Given the description of an element on the screen output the (x, y) to click on. 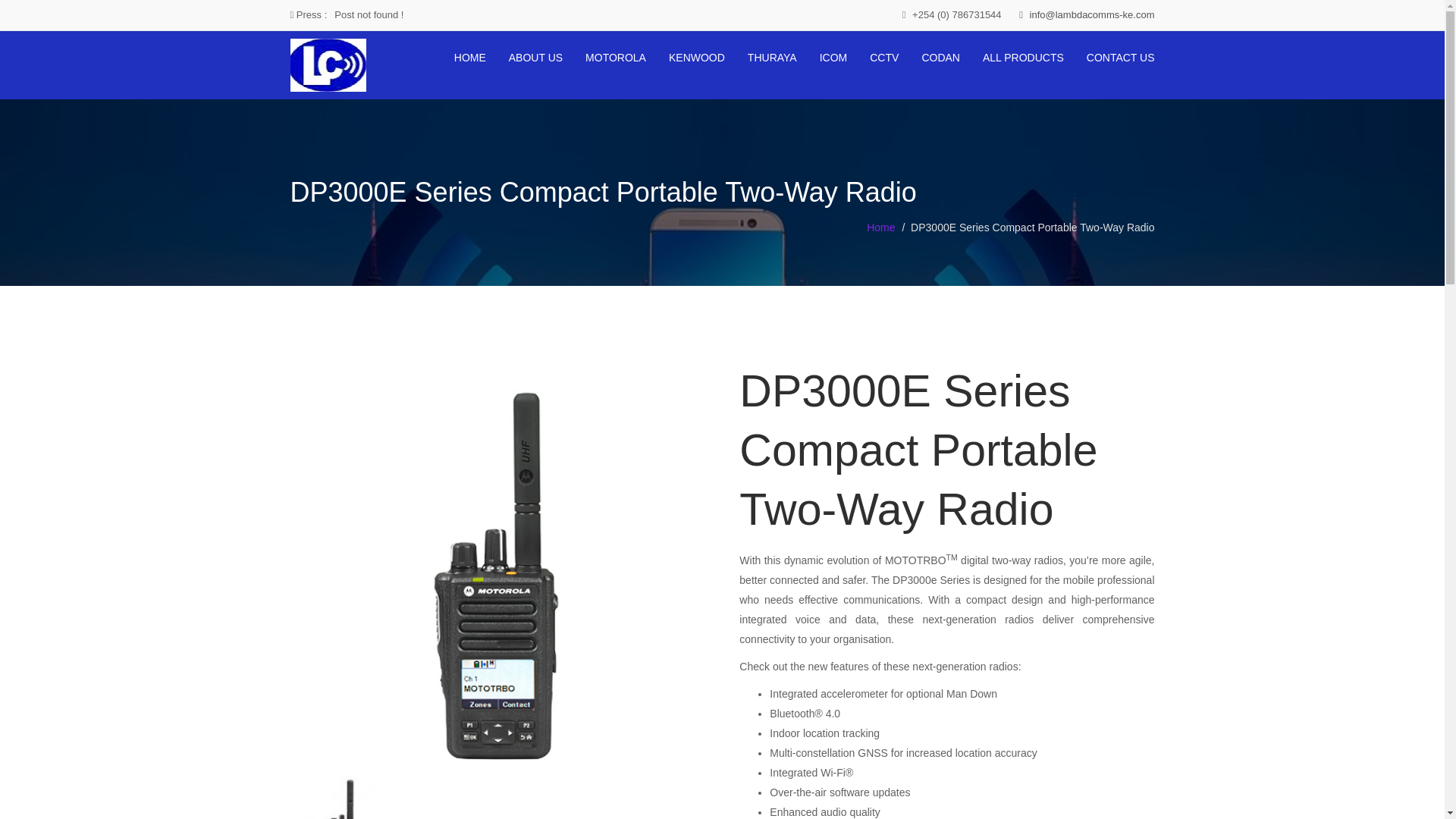
CCTV (883, 57)
ABOUT US (535, 57)
HOME (470, 57)
KENWOOD (696, 57)
CODAN (940, 57)
ALL PRODUCTS (1023, 57)
ABOUT US (535, 57)
ICOM (833, 57)
MOTOROLA (615, 57)
Home (880, 227)
THURAYA (772, 57)
CODAN (940, 57)
KENWOOD (696, 57)
CONTACT US (1120, 57)
